Given the description of an element on the screen output the (x, y) to click on. 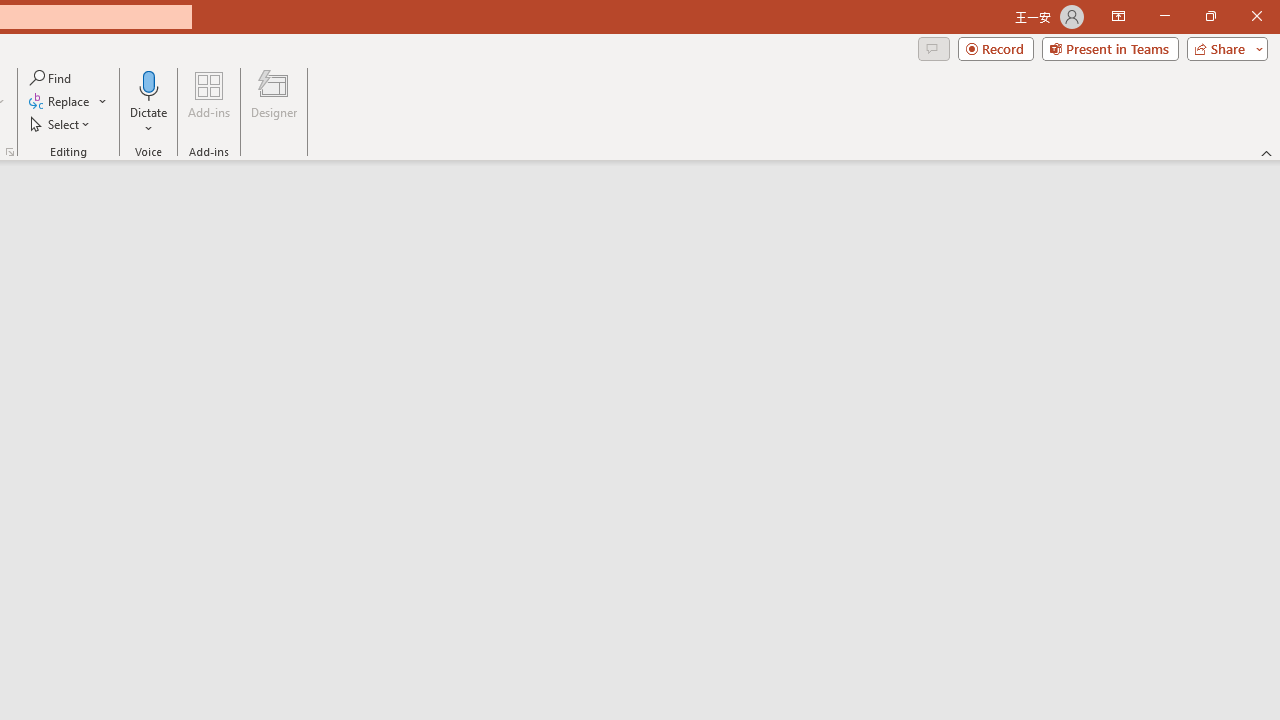
Dictate (149, 102)
Collapse the Ribbon (1267, 152)
Replace... (68, 101)
Replace... (60, 101)
Comments (933, 48)
Find... (51, 78)
Minimize (1164, 16)
Present in Teams (1109, 48)
Designer (274, 102)
Format Object... (9, 151)
Close (1256, 16)
Select (61, 124)
More Options (149, 121)
Restore Down (1210, 16)
